Given the description of an element on the screen output the (x, y) to click on. 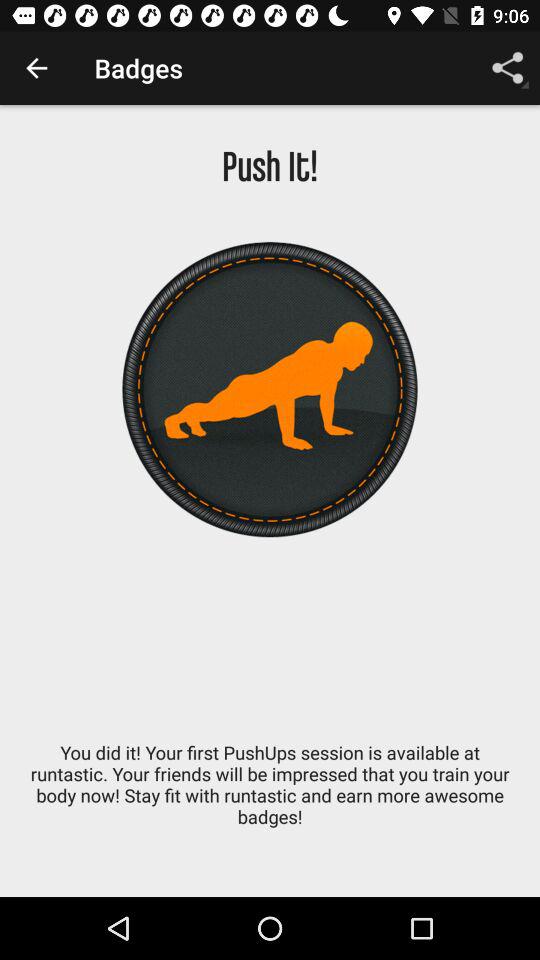
choose app to the left of badges icon (36, 68)
